Given the description of an element on the screen output the (x, y) to click on. 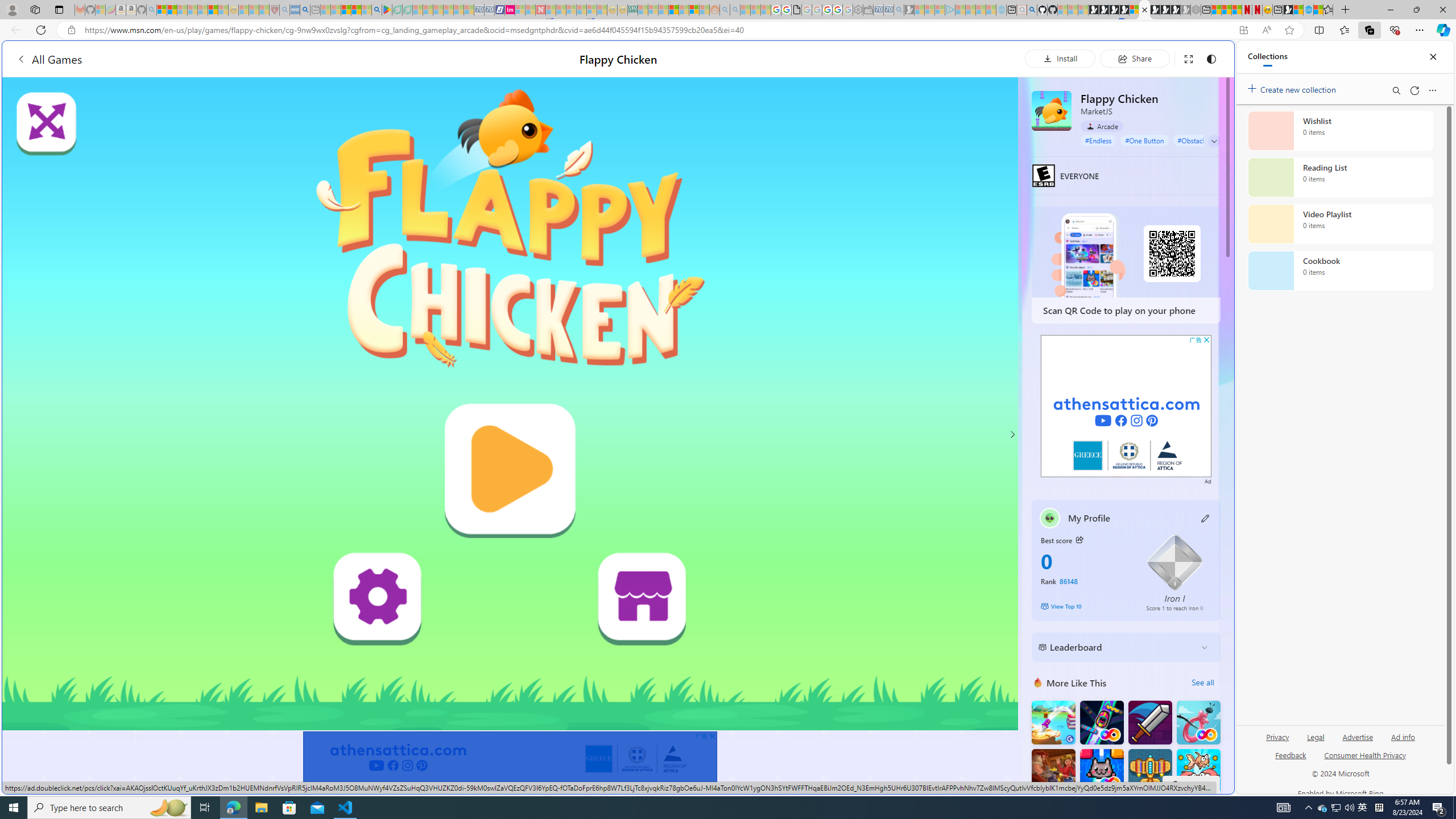
Change to dark mode (1211, 58)
Full screen (1187, 58)
Tabs you've opened (885, 151)
Wishlist collection, 0 items (1339, 130)
